Given the description of an element on the screen output the (x, y) to click on. 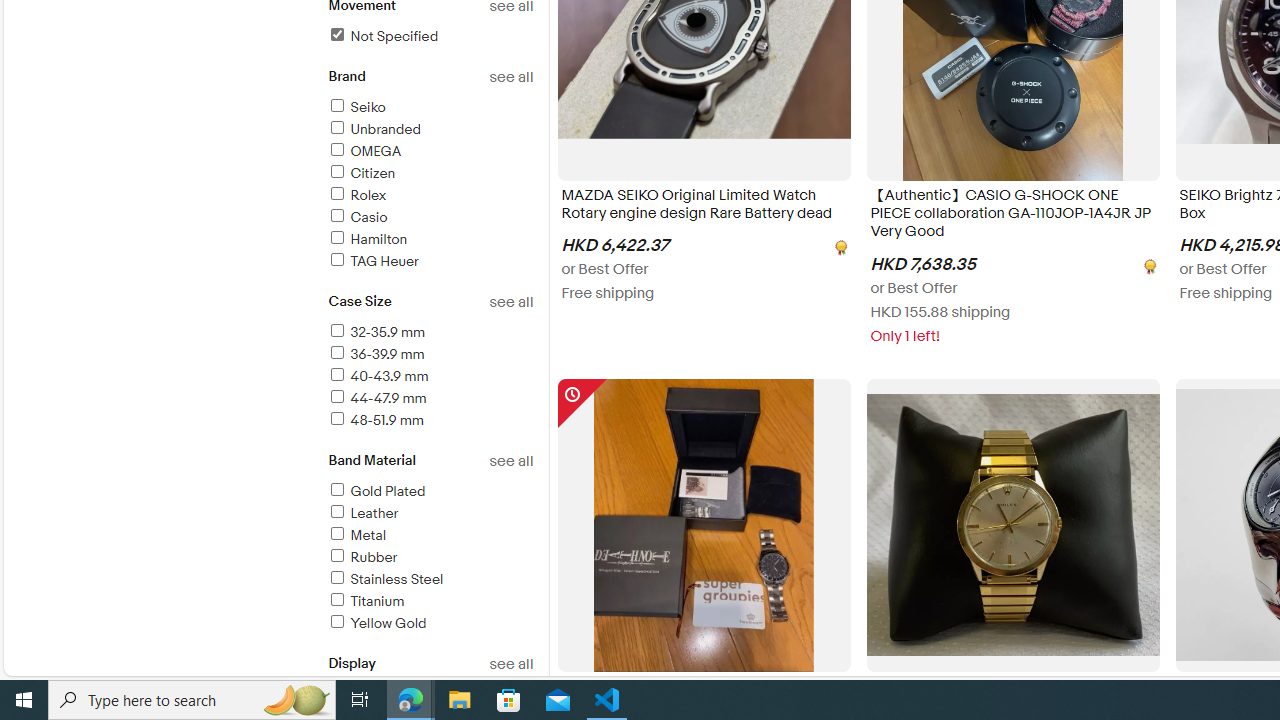
32-35.9 mm (430, 333)
40-43.9 mm (377, 376)
See all band material refinements (510, 461)
Stainless Steel (385, 579)
36-39.9 mm (375, 354)
Stainless Steel (430, 579)
Unbranded (374, 129)
Leather (430, 514)
See all display refinements (510, 664)
Rubber (362, 556)
TAG Heuer (372, 261)
[object Undefined] (1147, 264)
Hamilton (367, 239)
See all brand refinements (510, 77)
48-51.9 mm (430, 421)
